Given the description of an element on the screen output the (x, y) to click on. 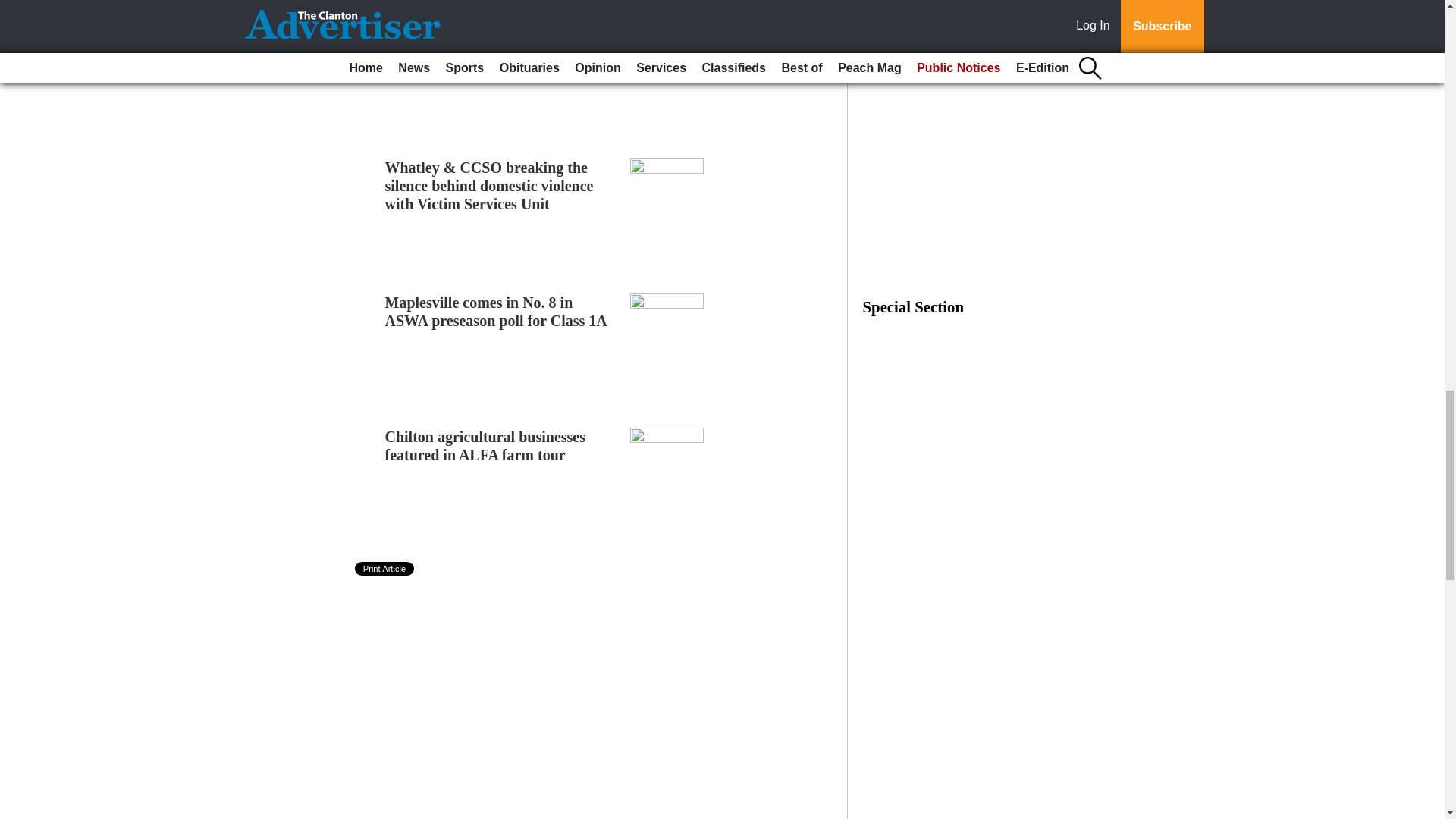
Board denies parole for Chilton offender (487, 42)
Chilton agricultural businesses featured in ALFA farm tour (485, 445)
Board denies parole for Chilton offender (487, 42)
Chilton agricultural businesses featured in ALFA farm tour (485, 445)
Print Article (384, 568)
